Given the description of an element on the screen output the (x, y) to click on. 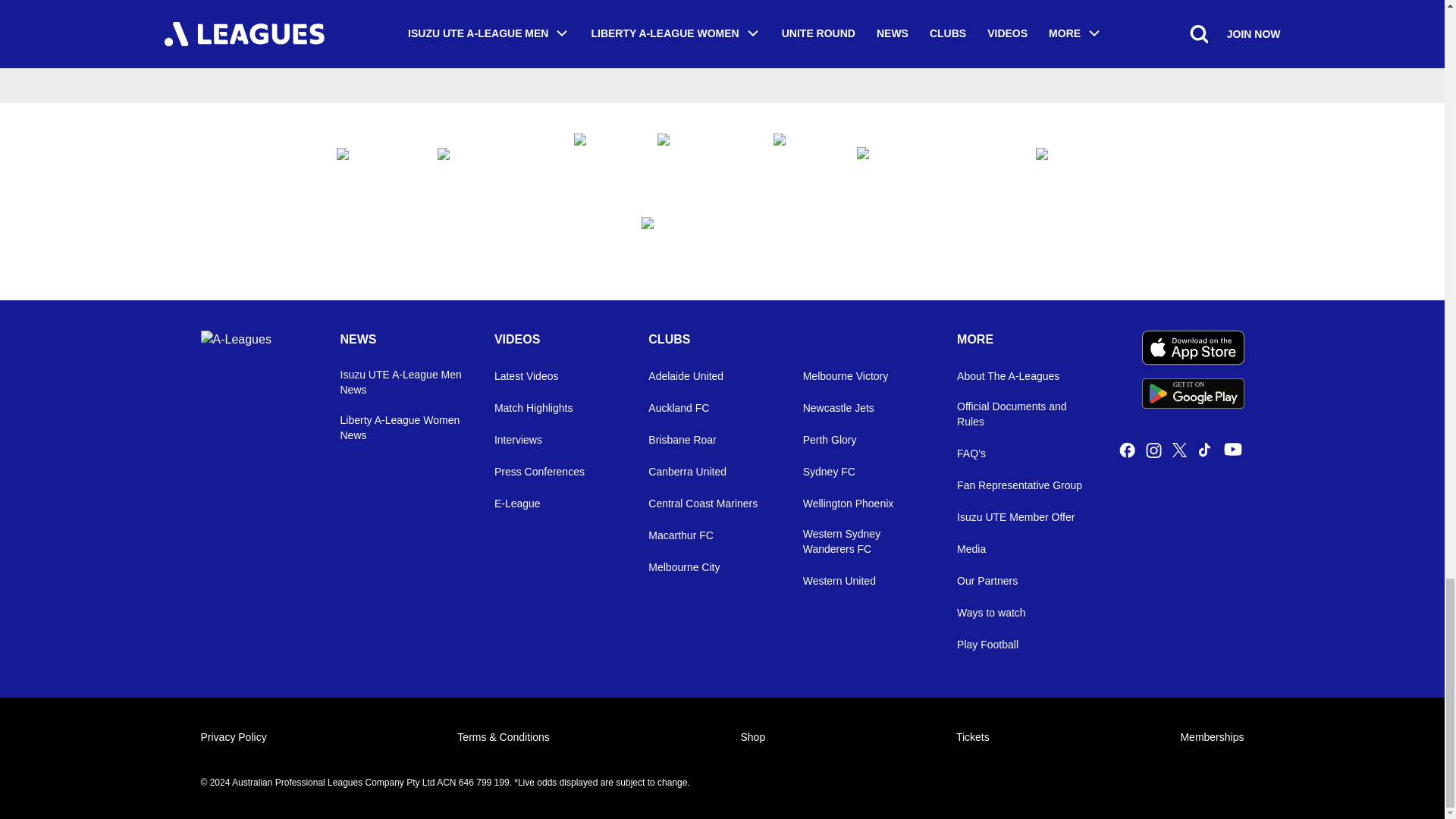
eToro (1071, 159)
McDonalds (800, 159)
Mitre (722, 243)
Isuzu UTE (371, 159)
Paramount (699, 159)
Liberty (489, 159)
Channel 10 (599, 159)
IHG (931, 159)
